Given the description of an element on the screen output the (x, y) to click on. 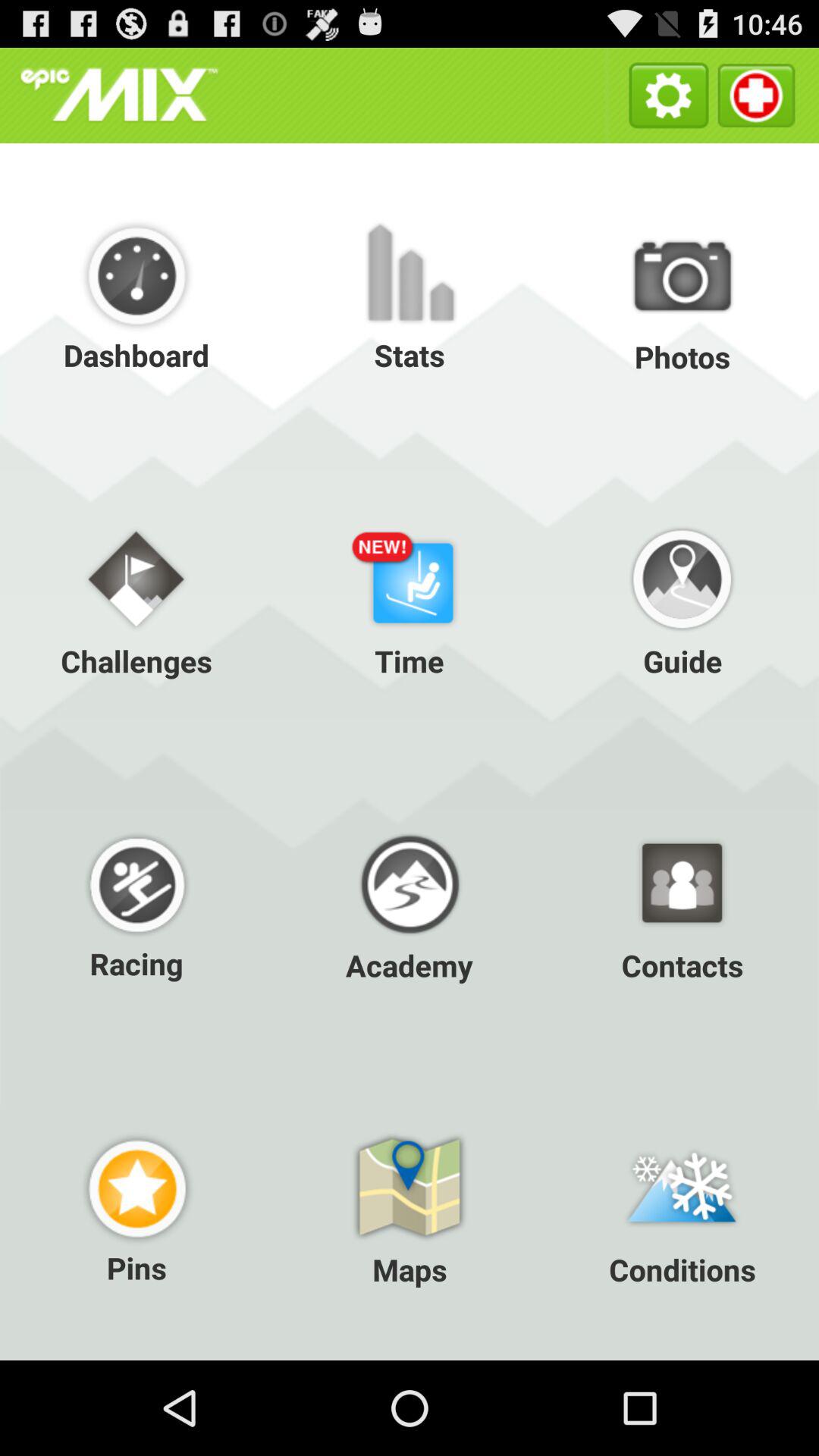
turn off the button above photos icon (755, 95)
